Given the description of an element on the screen output the (x, y) to click on. 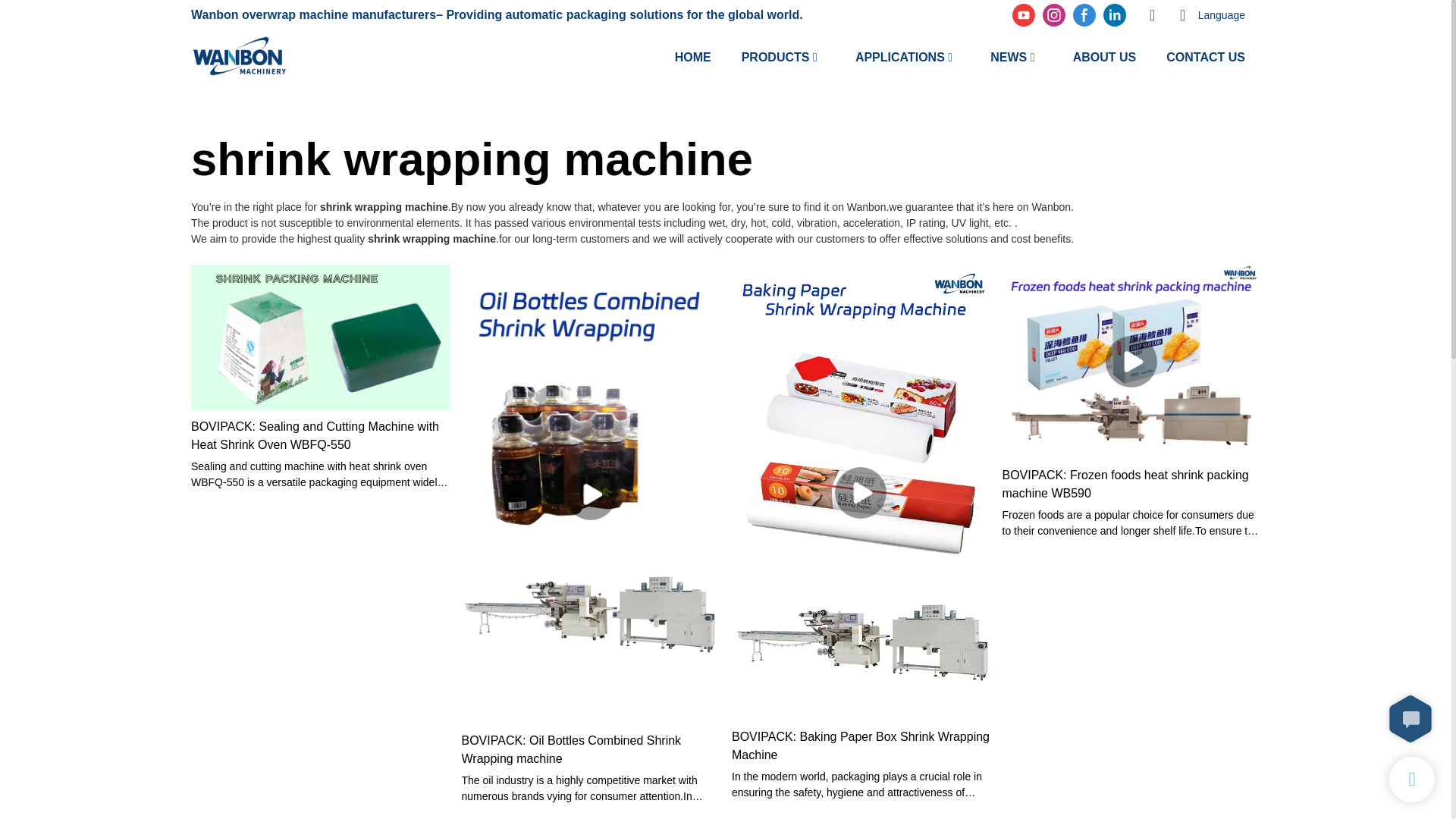
PRODUCTS (775, 56)
APPLICATIONS (900, 56)
HOME (693, 56)
BOVIPACK: Oil Bottles Combined Shrink Wrapping machine (590, 750)
BOVIPACK: Frozen foods heat shrink packing machine WB590 (1131, 484)
NEWS (1008, 56)
CONTACT US (1205, 56)
youtube (1024, 15)
instagram (1053, 15)
facebook (1083, 15)
ABOUT US (1105, 56)
